Given the description of an element on the screen output the (x, y) to click on. 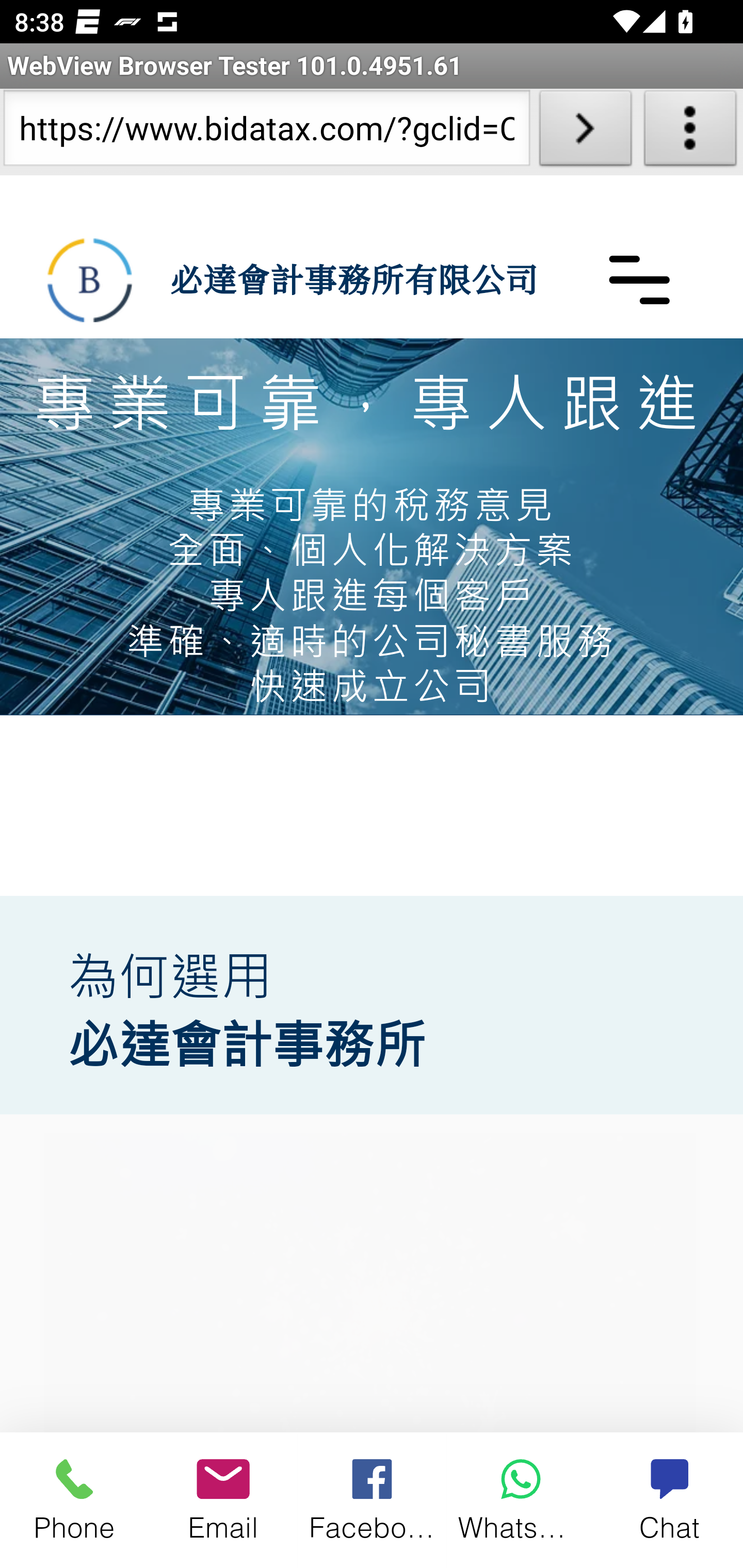
Load URL (585, 132)
About WebView (690, 132)
Open navigation menu (638, 279)
必達會計事務所有限公司 (90, 279)
必達會計事務所有限公司 (353, 278)
Phone (74, 1499)
Email (222, 1499)
Facebook (372, 1499)
WhatsApp (520, 1499)
Chat (669, 1499)
